Given the description of an element on the screen output the (x, y) to click on. 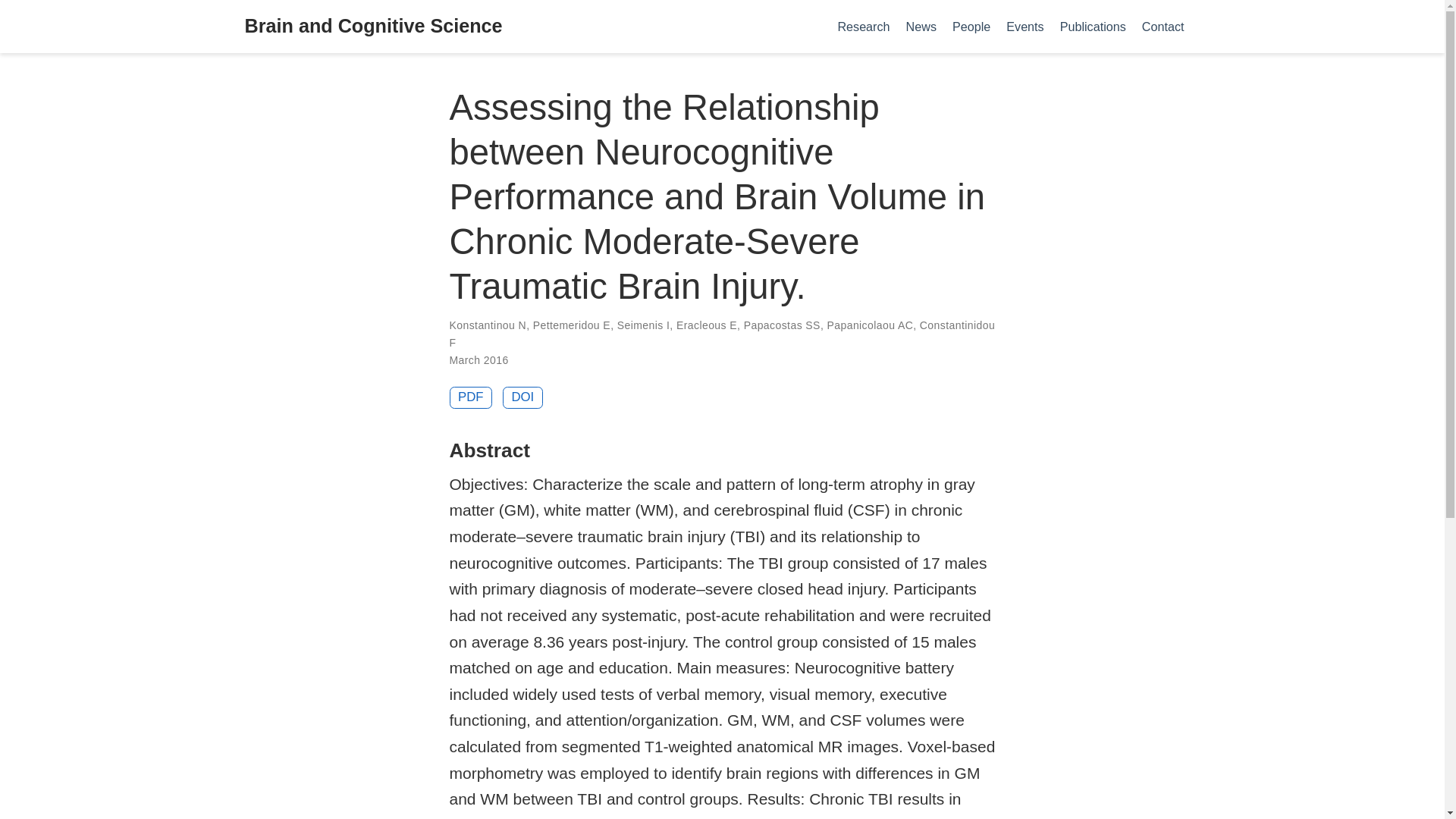
Publications (1092, 25)
Pettemeridou E (571, 325)
Events (1024, 25)
People (970, 25)
Papacostas SS (782, 325)
Konstantinou N (486, 325)
Research (863, 25)
DOI (522, 397)
PDF (470, 397)
Eracleous E (706, 325)
Papanicolaou AC (869, 325)
News (920, 25)
Contact (1163, 25)
Constantinidou F (721, 333)
Seimenis I (643, 325)
